Given the description of an element on the screen output the (x, y) to click on. 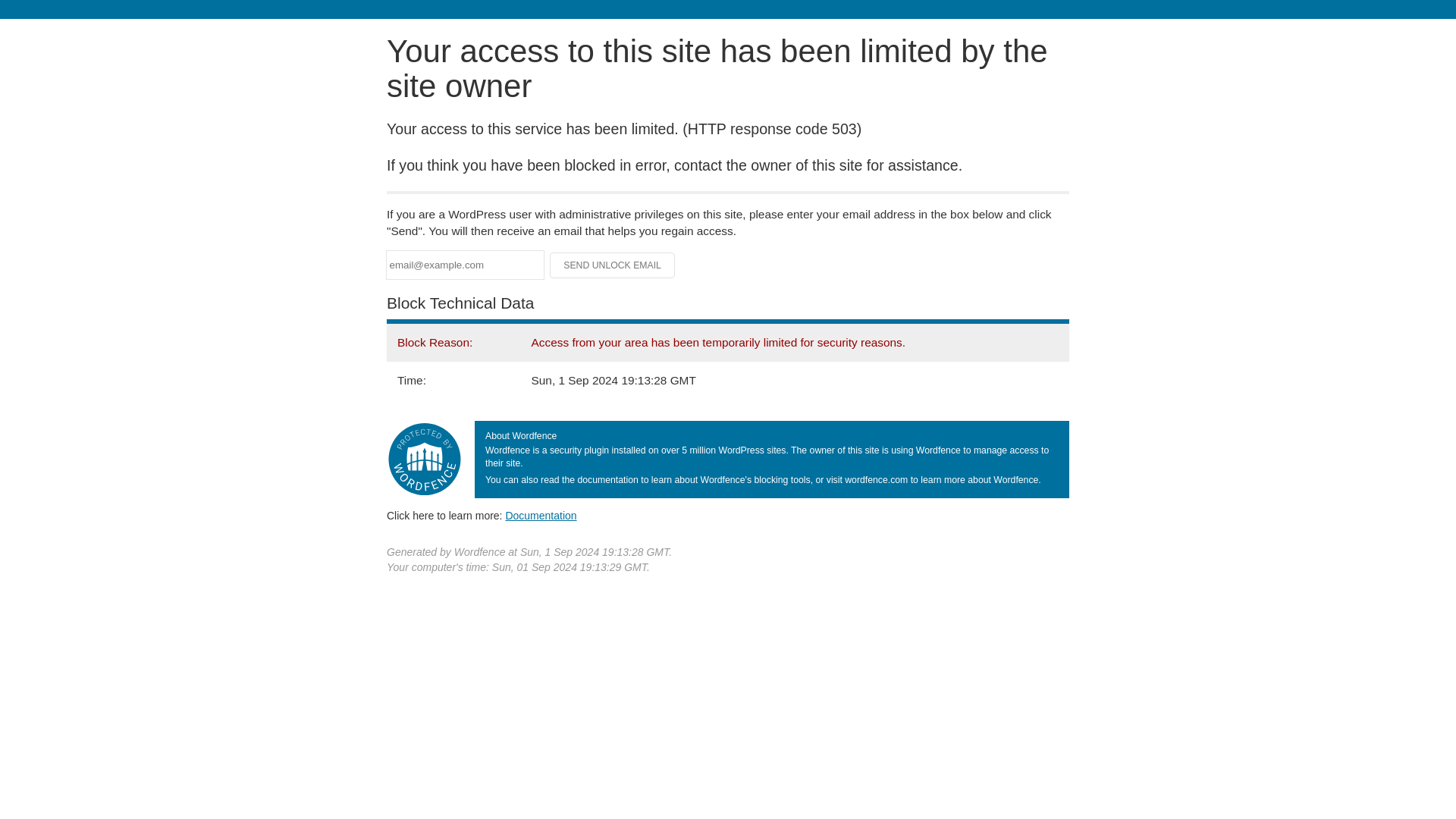
Send Unlock Email (612, 265)
Send Unlock Email (612, 265)
Documentation (540, 515)
